Given the description of an element on the screen output the (x, y) to click on. 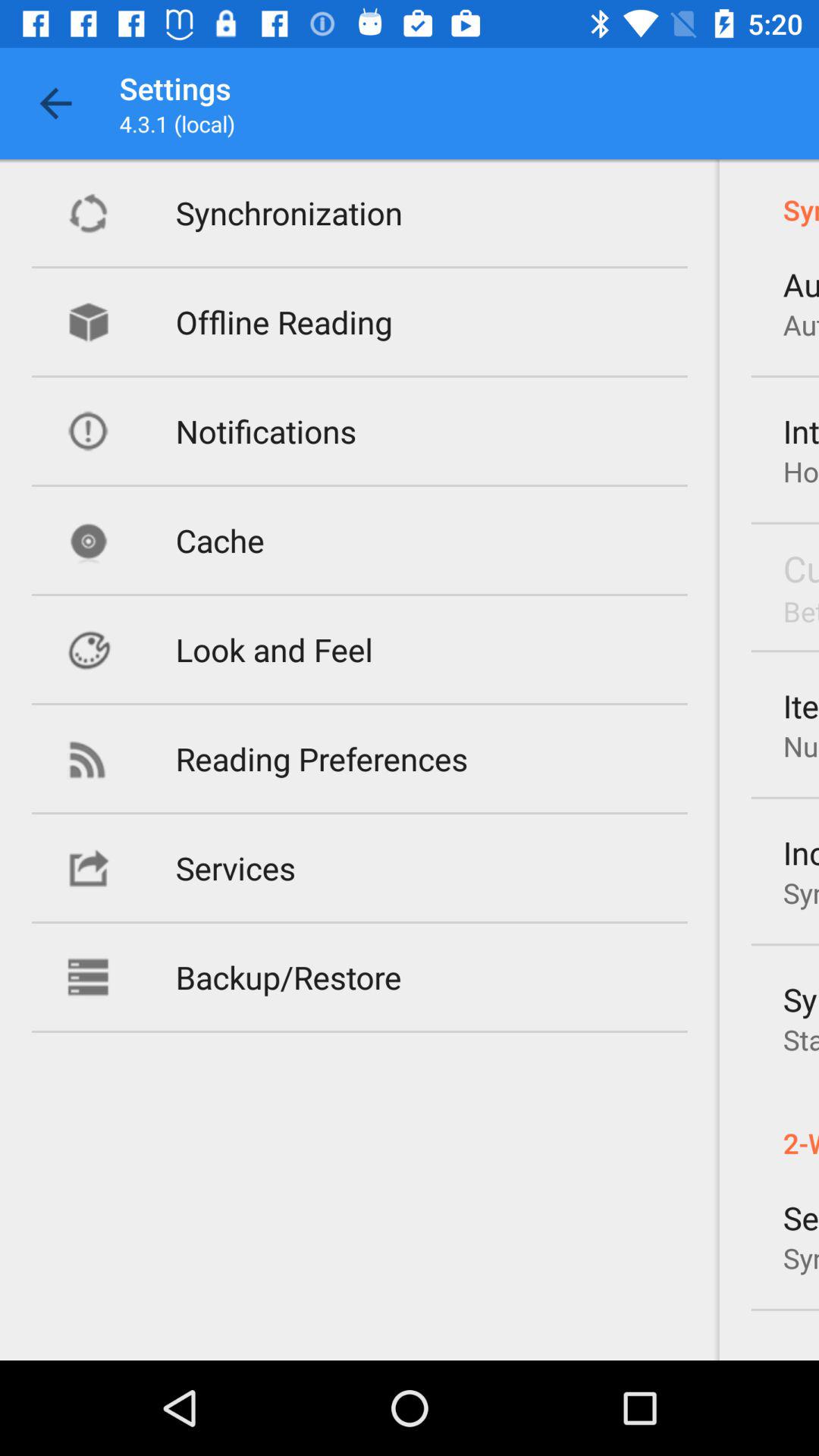
turn on the item below reading preferences (235, 867)
